Given the description of an element on the screen output the (x, y) to click on. 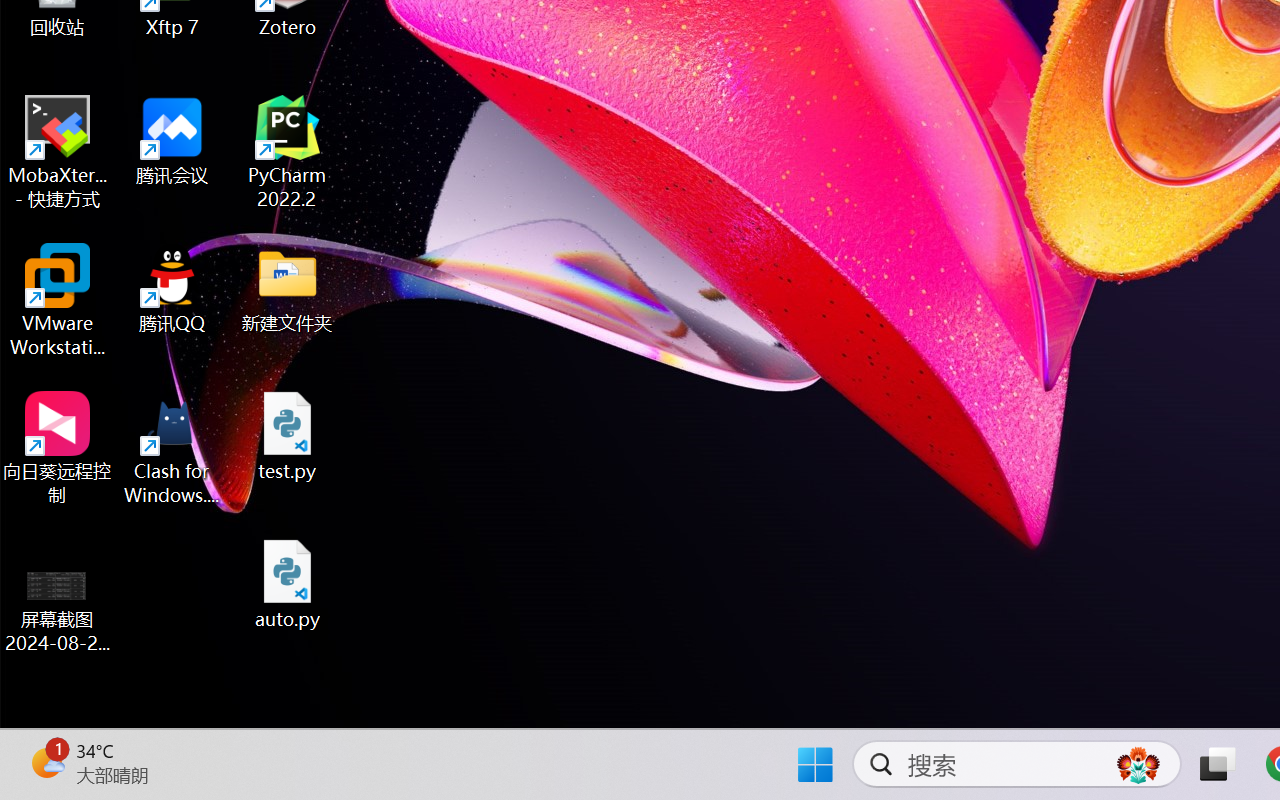
PyCharm 2022.2 (287, 152)
VMware Workstation Pro (57, 300)
test.py (287, 436)
auto.py (287, 584)
